Given the description of an element on the screen output the (x, y) to click on. 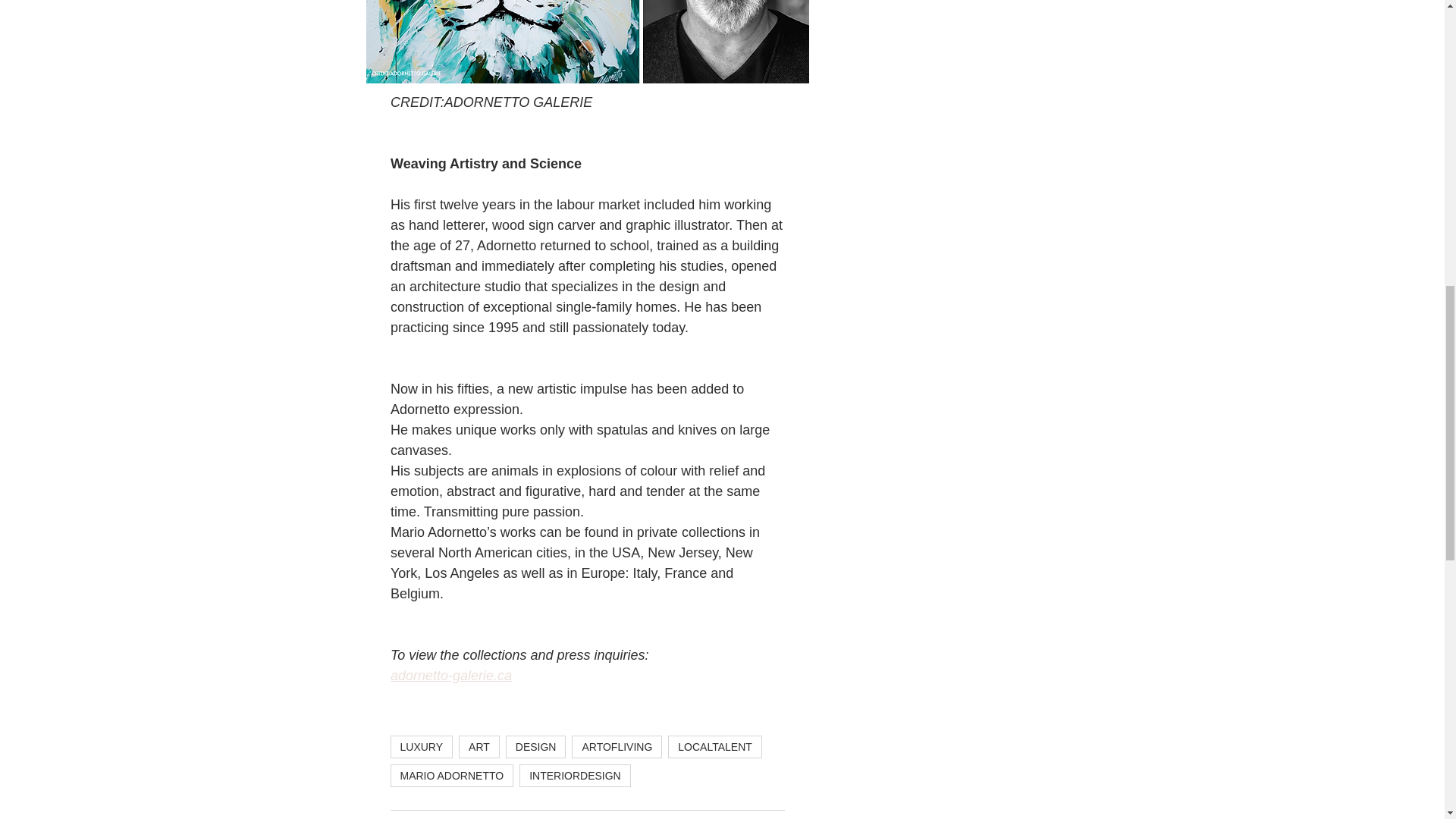
LUXURY (421, 746)
INTERIORDESIGN (574, 775)
ART (478, 746)
MARIO ADORNETTO (451, 775)
DESIGN (535, 746)
adornetto-galerie.ca (450, 674)
ARTOFLIVING (617, 746)
LOCALTALENT (714, 746)
